Given the description of an element on the screen output the (x, y) to click on. 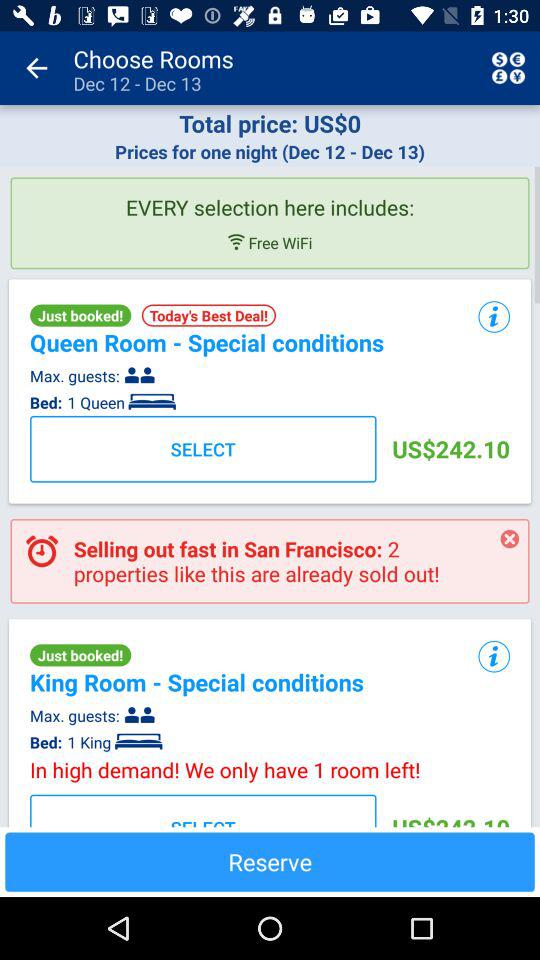
launch app above total price us (36, 68)
